Given the description of an element on the screen output the (x, y) to click on. 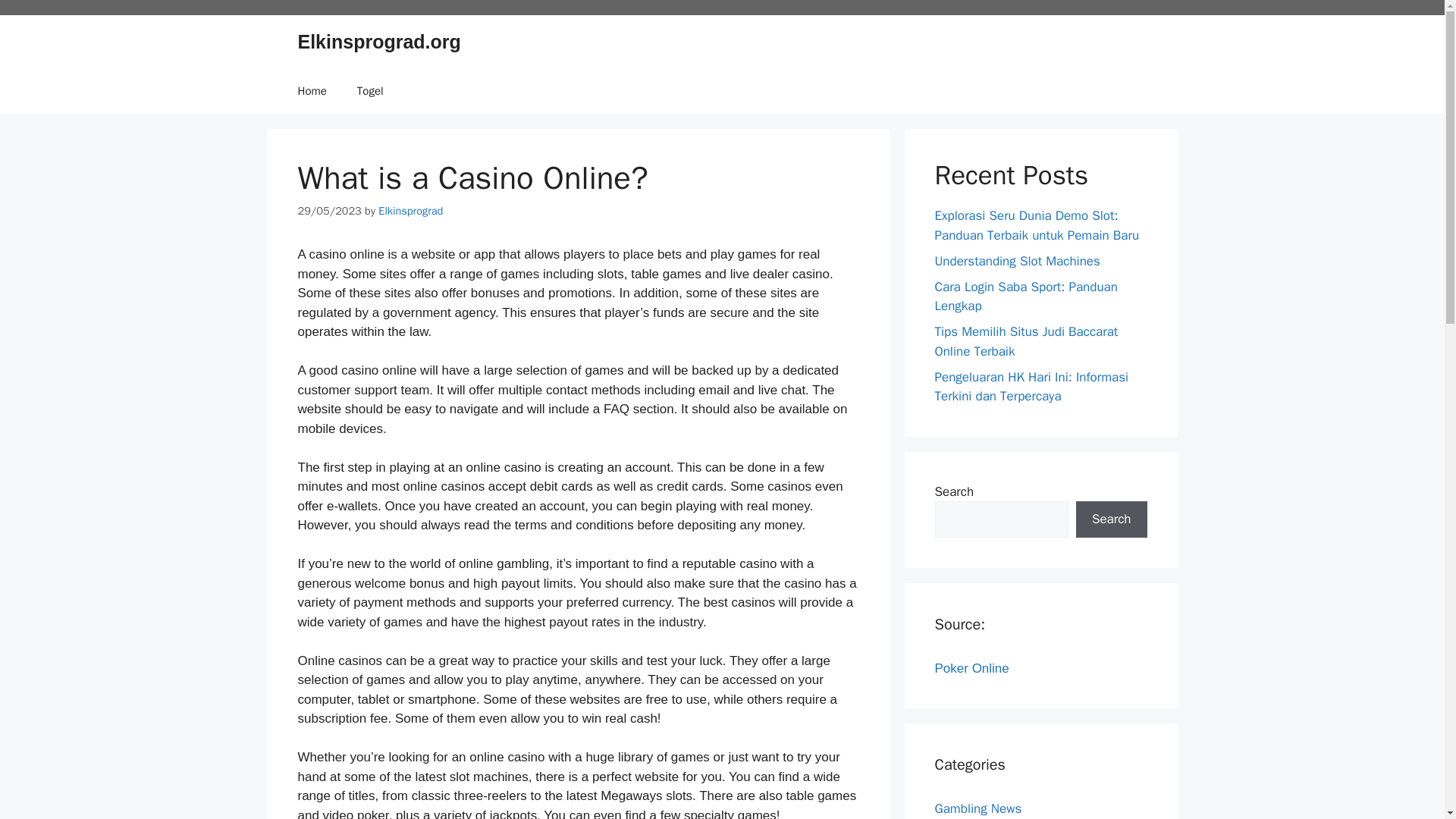
Home (311, 90)
Search (1111, 519)
Elkinsprograd (410, 210)
Gambling News (978, 808)
Cara Login Saba Sport: Panduan Lengkap (1025, 296)
Understanding Slot Machines (1016, 261)
Poker Online (971, 667)
Tips Memilih Situs Judi Baccarat Online Terbaik (1026, 341)
View all posts by Elkinsprograd (410, 210)
Togel (370, 90)
Pengeluaran HK Hari Ini: Informasi Terkini dan Terpercaya (1031, 386)
Elkinsprograd.org (378, 41)
